Given the description of an element on the screen output the (x, y) to click on. 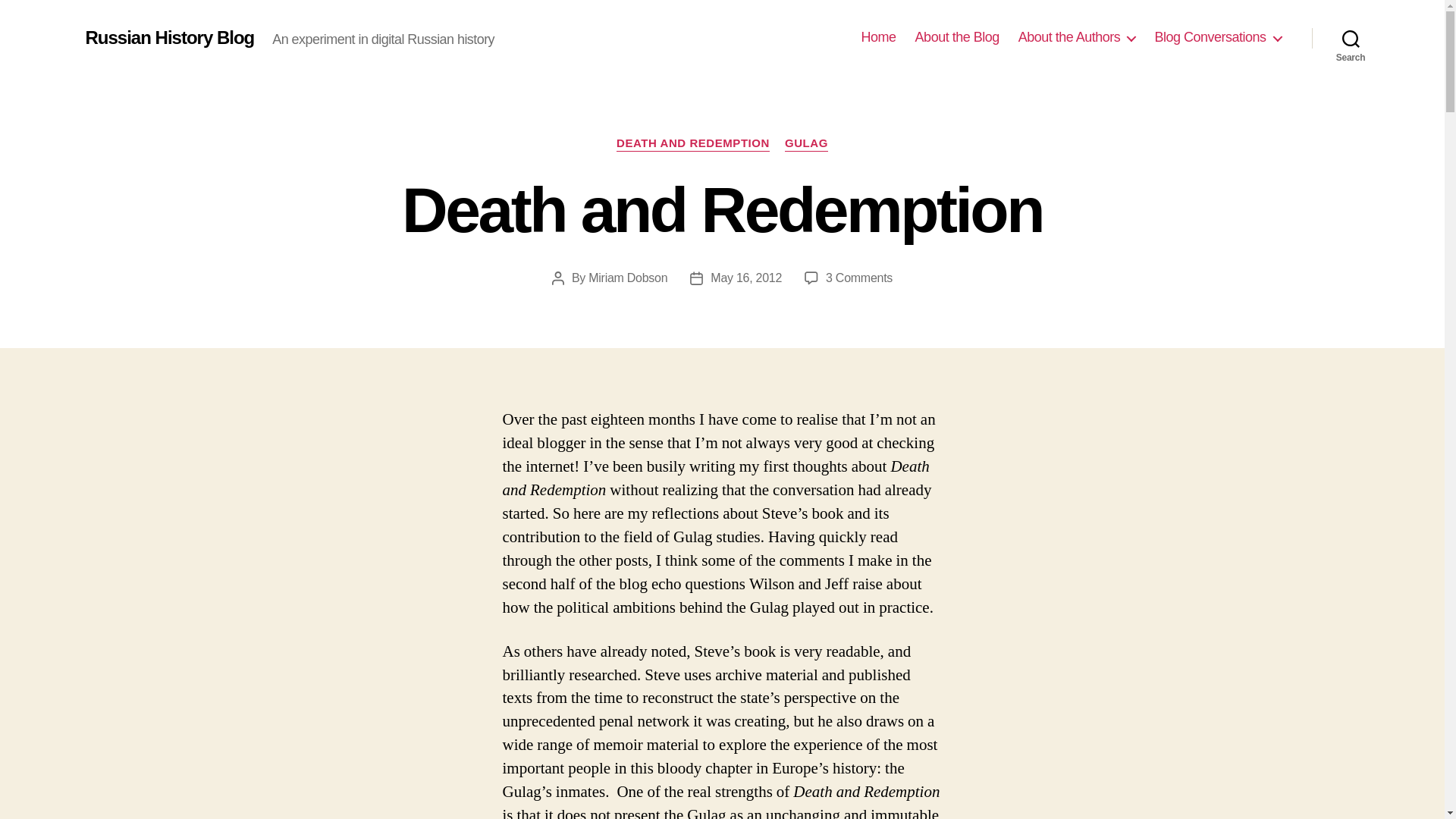
Blog Conversations (1217, 37)
About the Blog (956, 37)
Home (878, 37)
Search (1350, 37)
Russian History Blog (168, 37)
About the Authors (1076, 37)
